Given the description of an element on the screen output the (x, y) to click on. 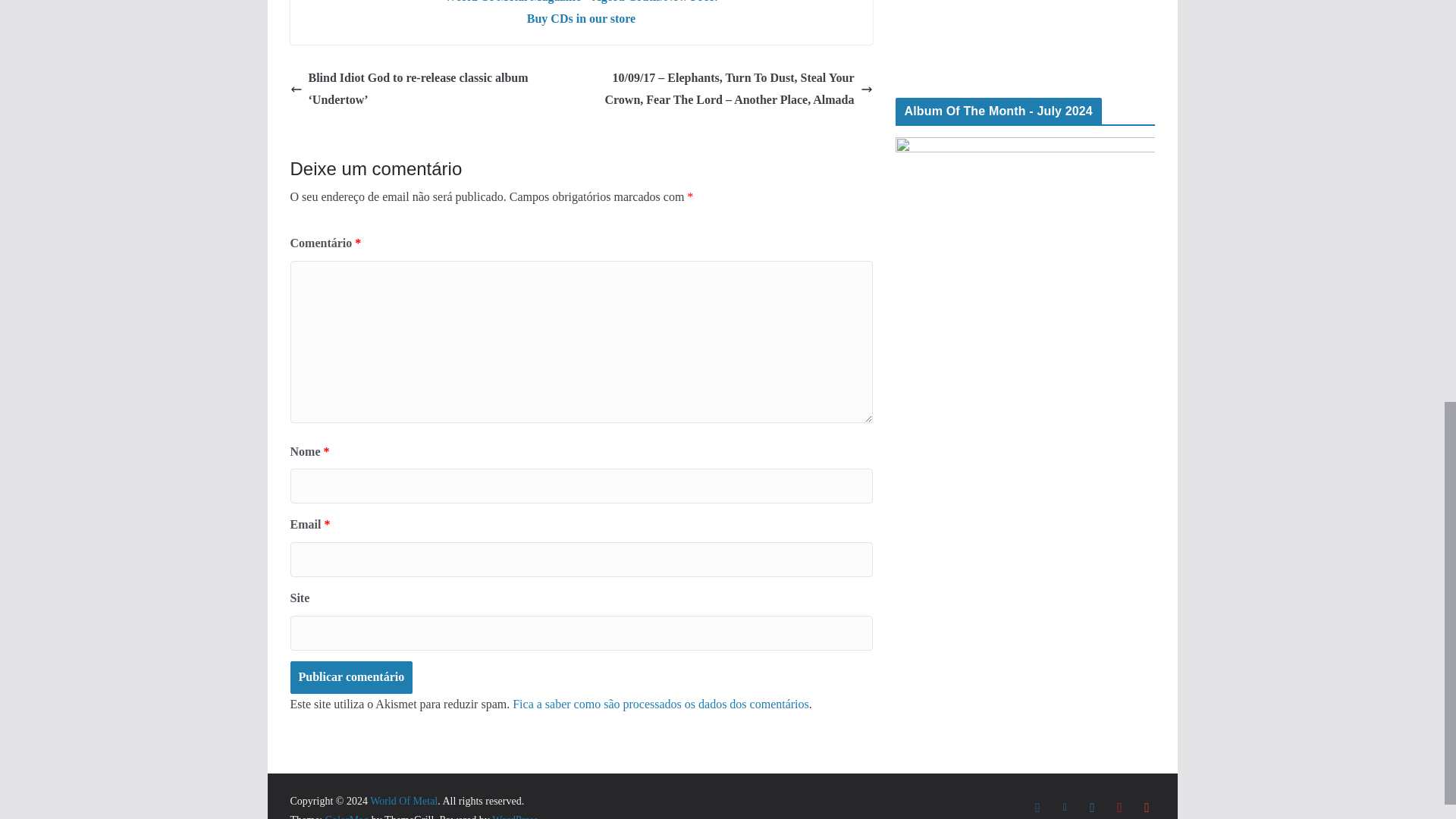
Album Of The Month - August 2024 (1024, 36)
ColorMag (346, 816)
WordPress (514, 816)
World Of Metal (403, 799)
Album Of The Month - July 2024 (1024, 270)
Buy CDs in our store (580, 18)
